Given the description of an element on the screen output the (x, y) to click on. 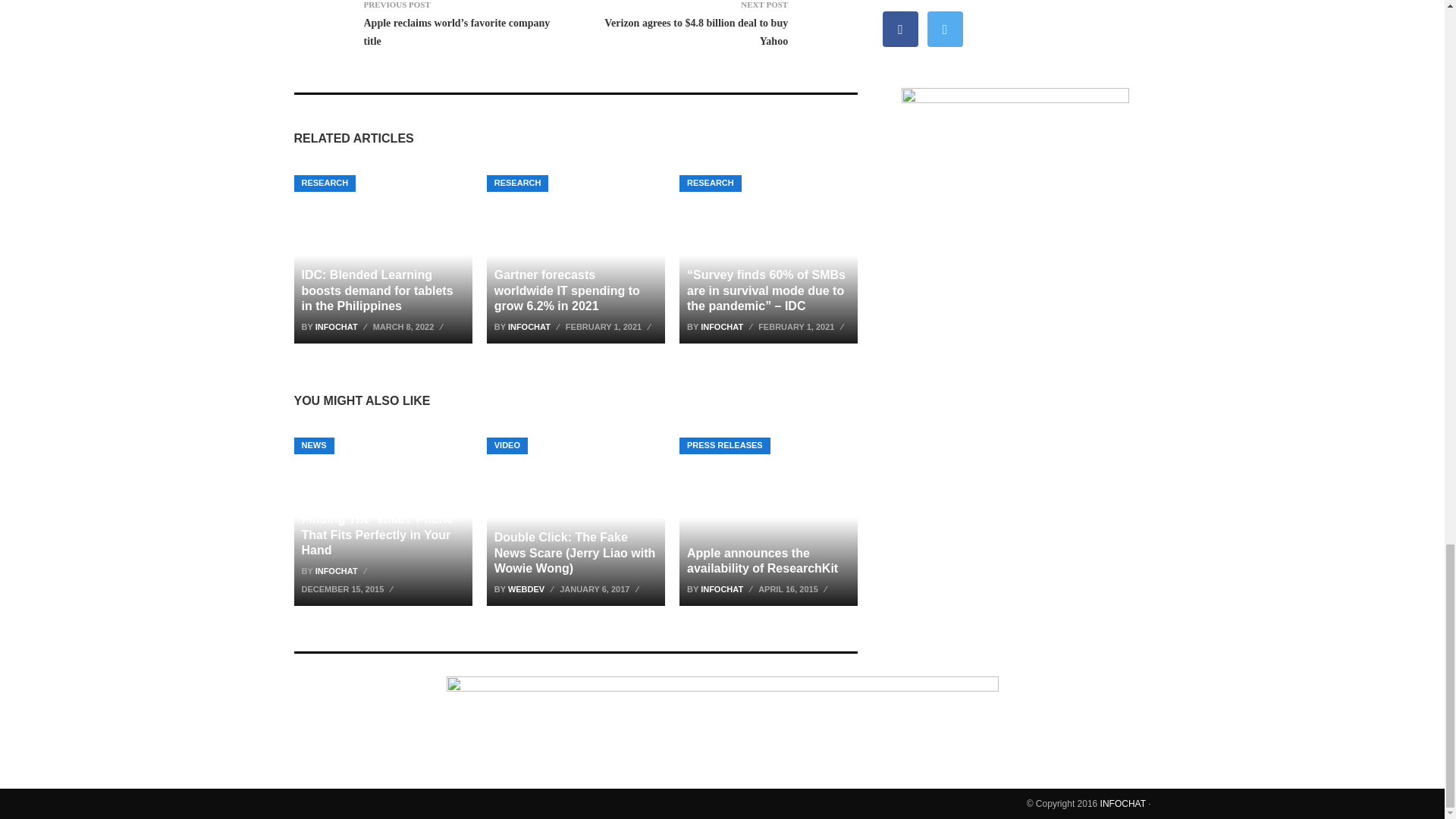
Monday, February 1, 2021, 4:31 pm (609, 326)
Friday, January 6, 2017, 11:13 am (600, 588)
Tuesday, December 15, 2015, 11:07 am (349, 588)
Monday, February 1, 2021, 4:11 pm (802, 326)
Thursday, April 16, 2015, 3:06 pm (794, 588)
Tuesday, March 8, 2022, 6:27 pm (409, 326)
